Given the description of an element on the screen output the (x, y) to click on. 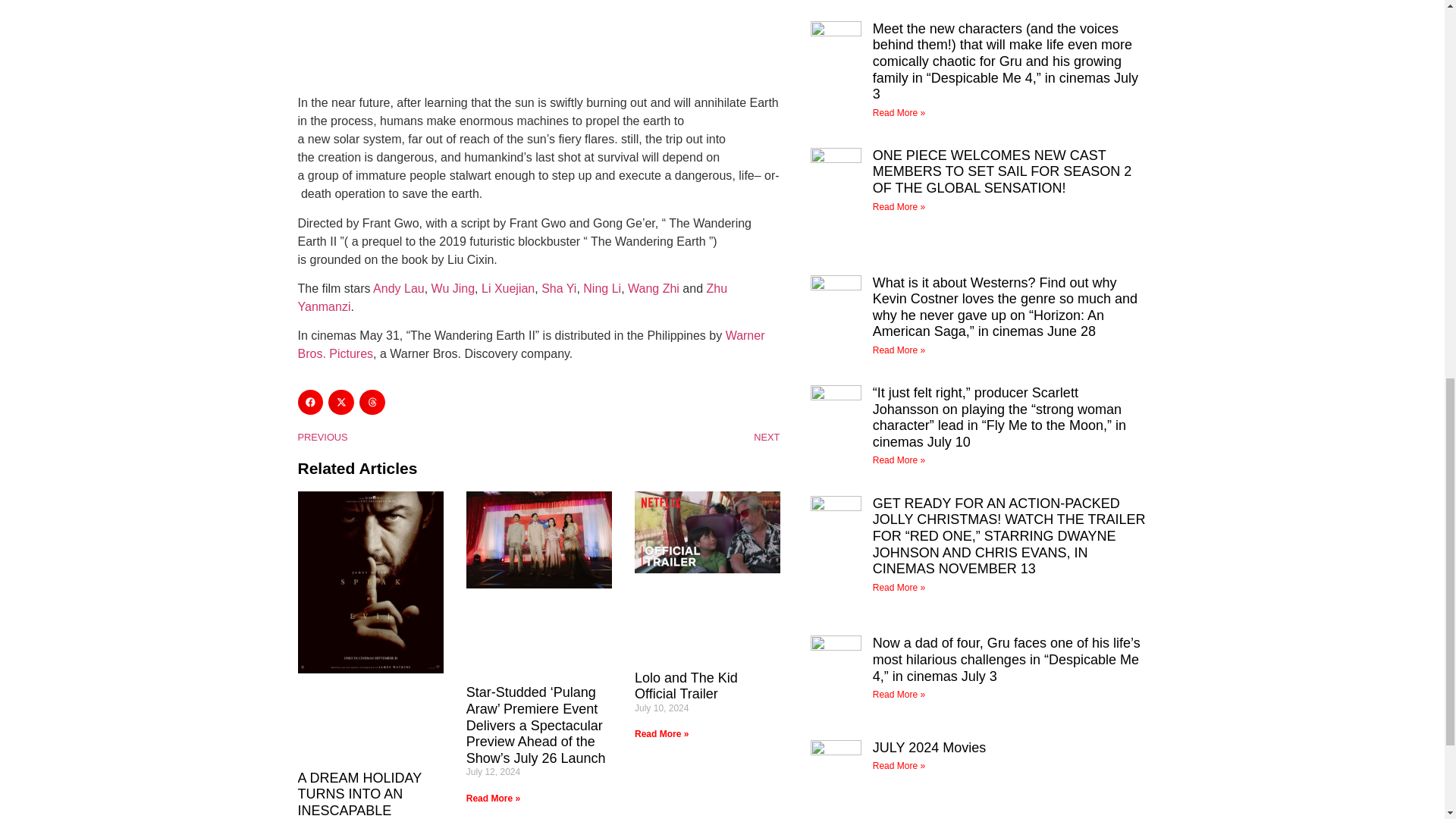
Sha Yi (558, 287)
Andy Lau (398, 287)
Lolo and The Kid Official Trailer (686, 685)
NEXT (658, 436)
PREVIOUS (417, 436)
Zhu Yanmanzi (511, 296)
Warner Bros. Pictures (530, 344)
Li Xuejian (507, 287)
Wu Jing (453, 287)
Wang Zhi (653, 287)
Ning Li (602, 287)
